Given the description of an element on the screen output the (x, y) to click on. 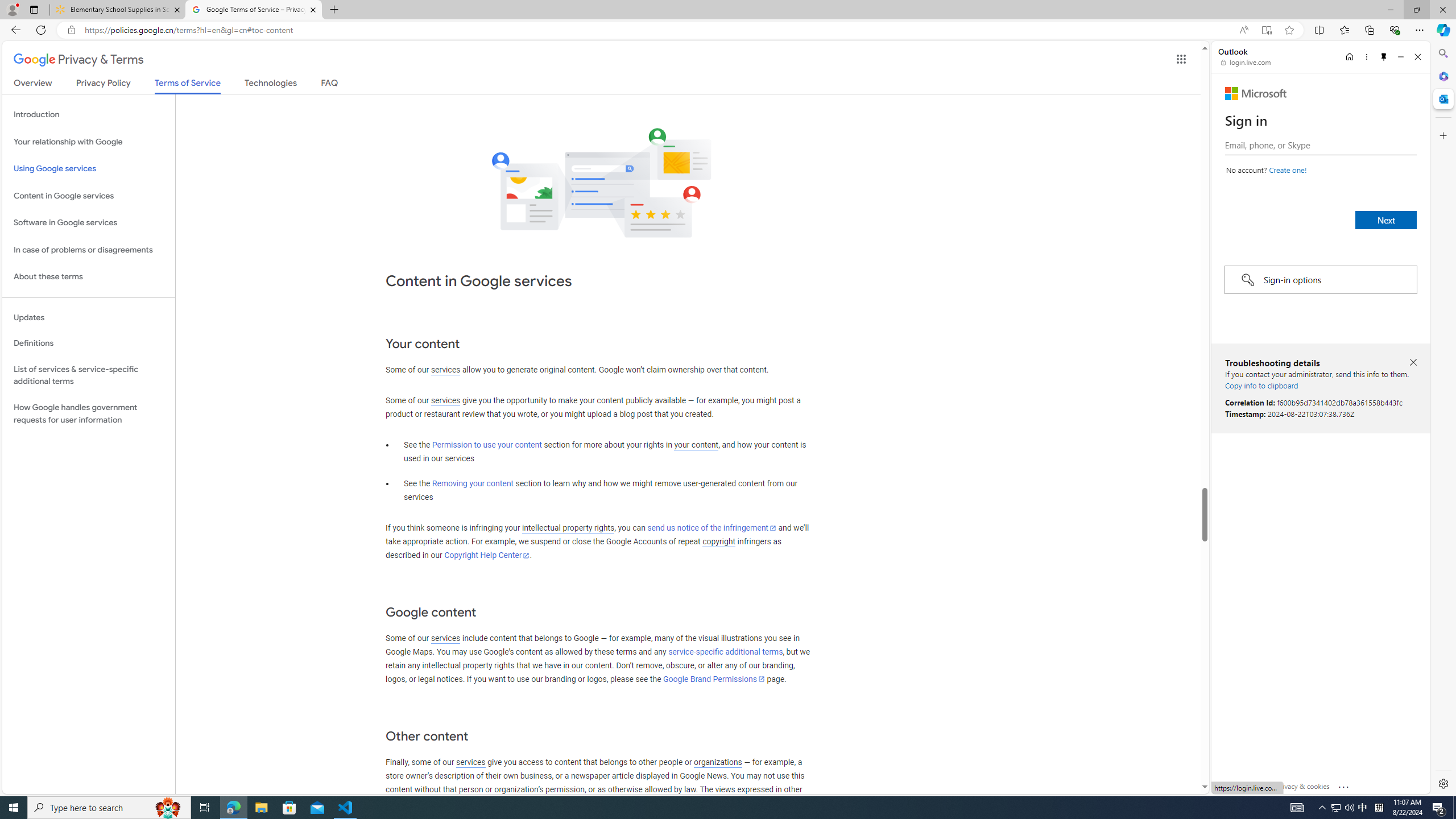
Sign-in options (1320, 279)
Copy info to clipboard (1261, 384)
Enter your email, phone, or Skype. (1320, 145)
Enter Immersive Reader (F9) (1266, 29)
Click here for troubleshooting information (1344, 784)
